Given the description of an element on the screen output the (x, y) to click on. 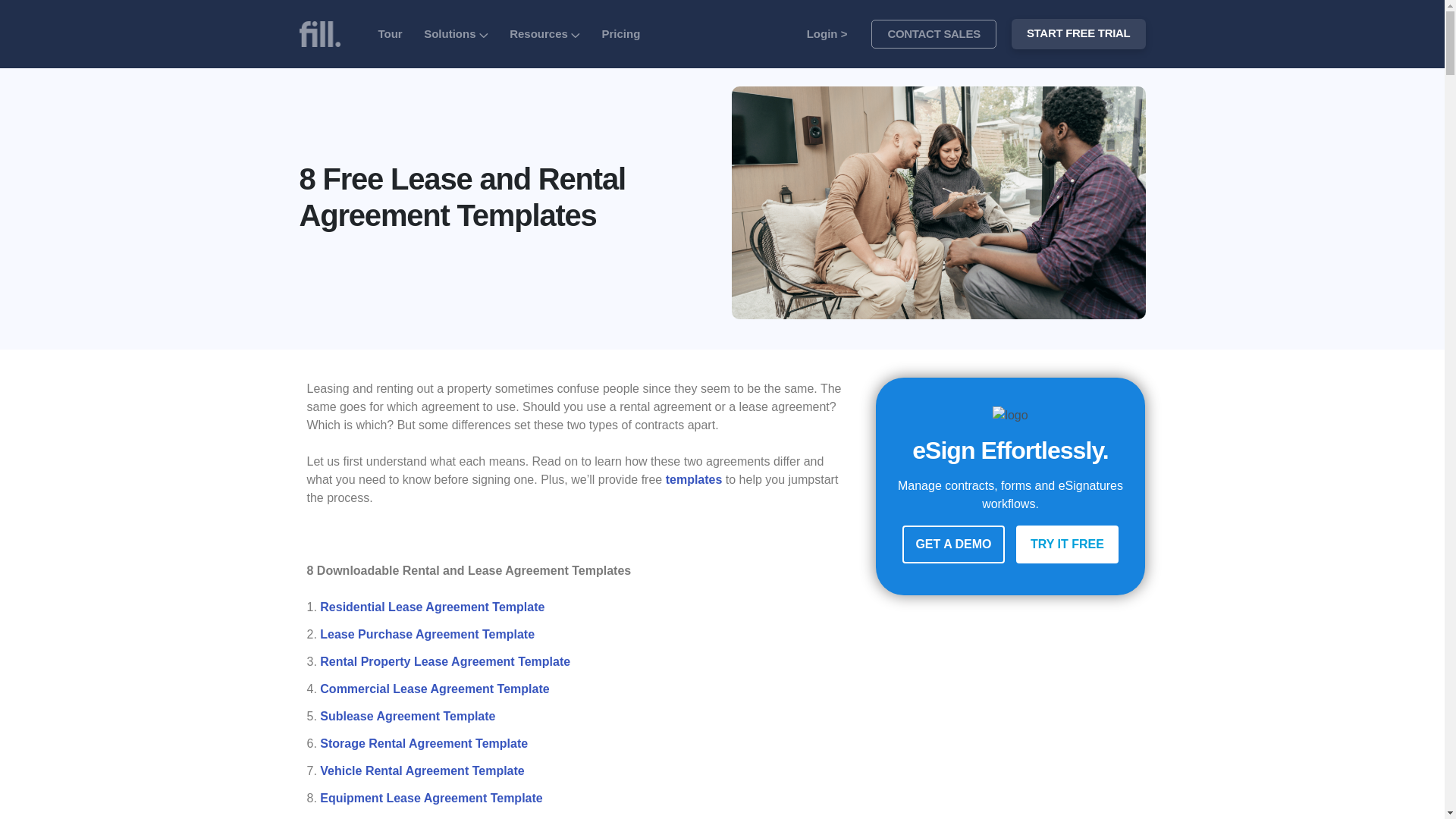
Solutions (455, 33)
CONTACT SALES (932, 34)
START FREE TRIAL (1078, 33)
Resources (544, 33)
Pricing (620, 33)
